Given the description of an element on the screen output the (x, y) to click on. 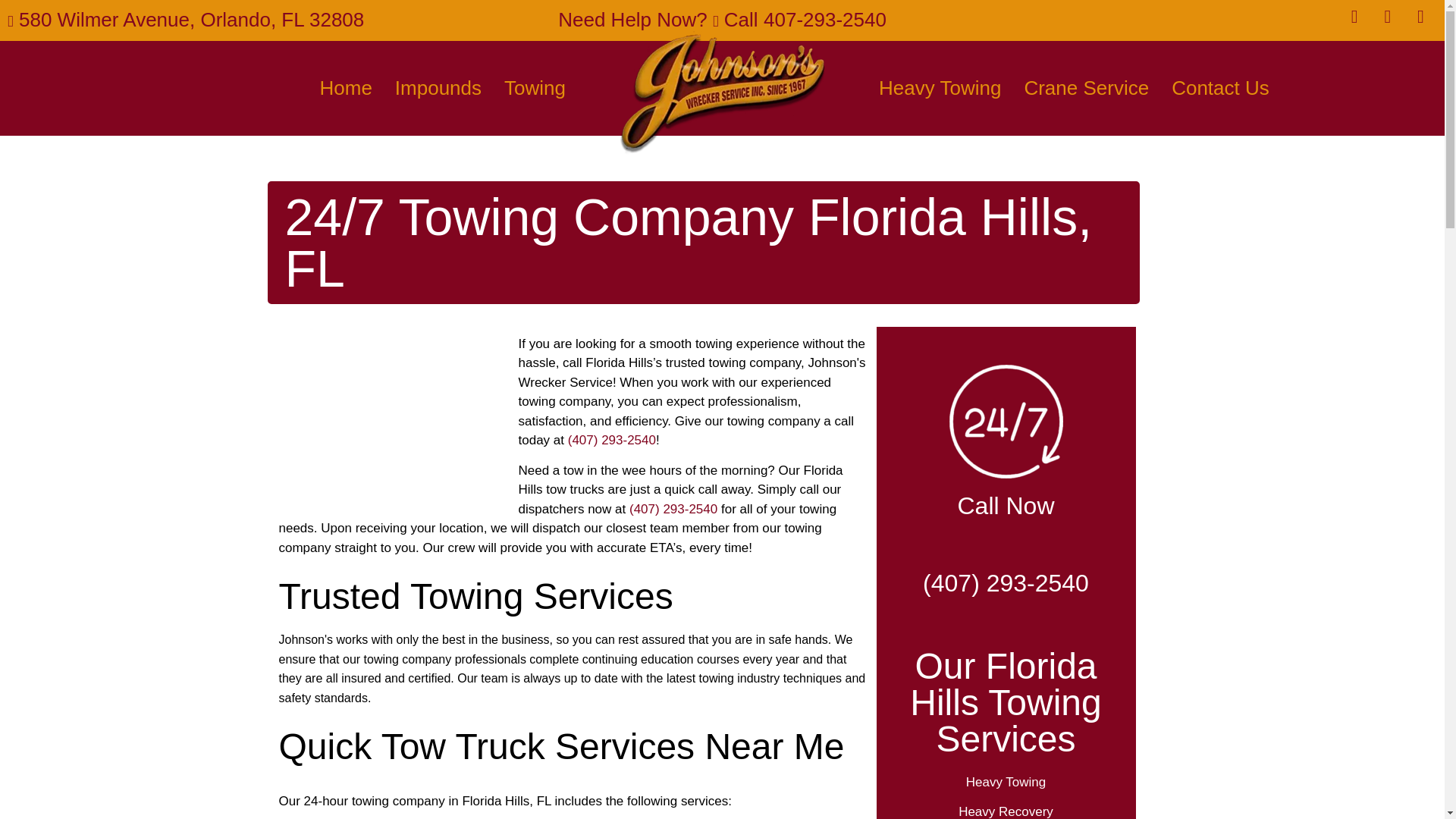
Need Help Now? Call (722, 19)
Impounds (438, 87)
Home (344, 87)
Towing (534, 87)
